Given the description of an element on the screen output the (x, y) to click on. 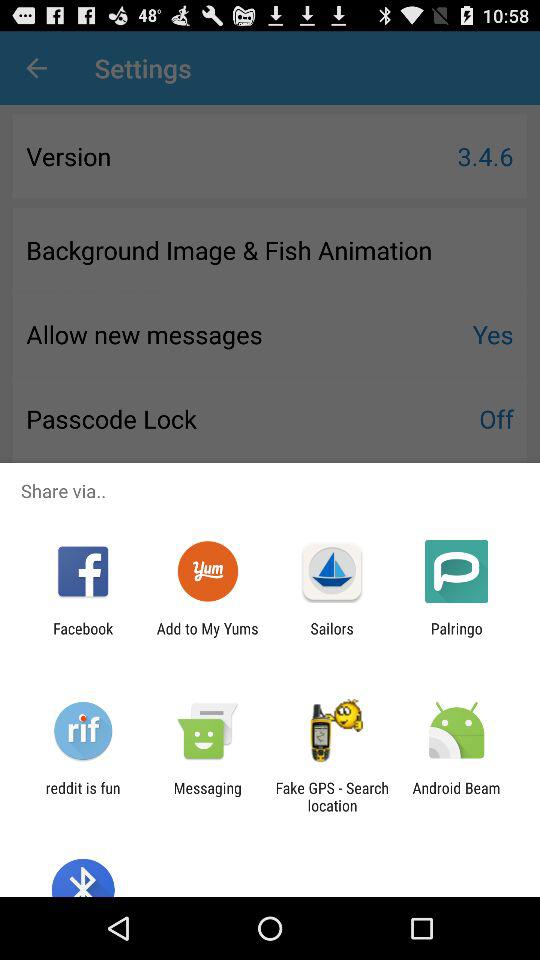
scroll until reddit is fun item (82, 796)
